Given the description of an element on the screen output the (x, y) to click on. 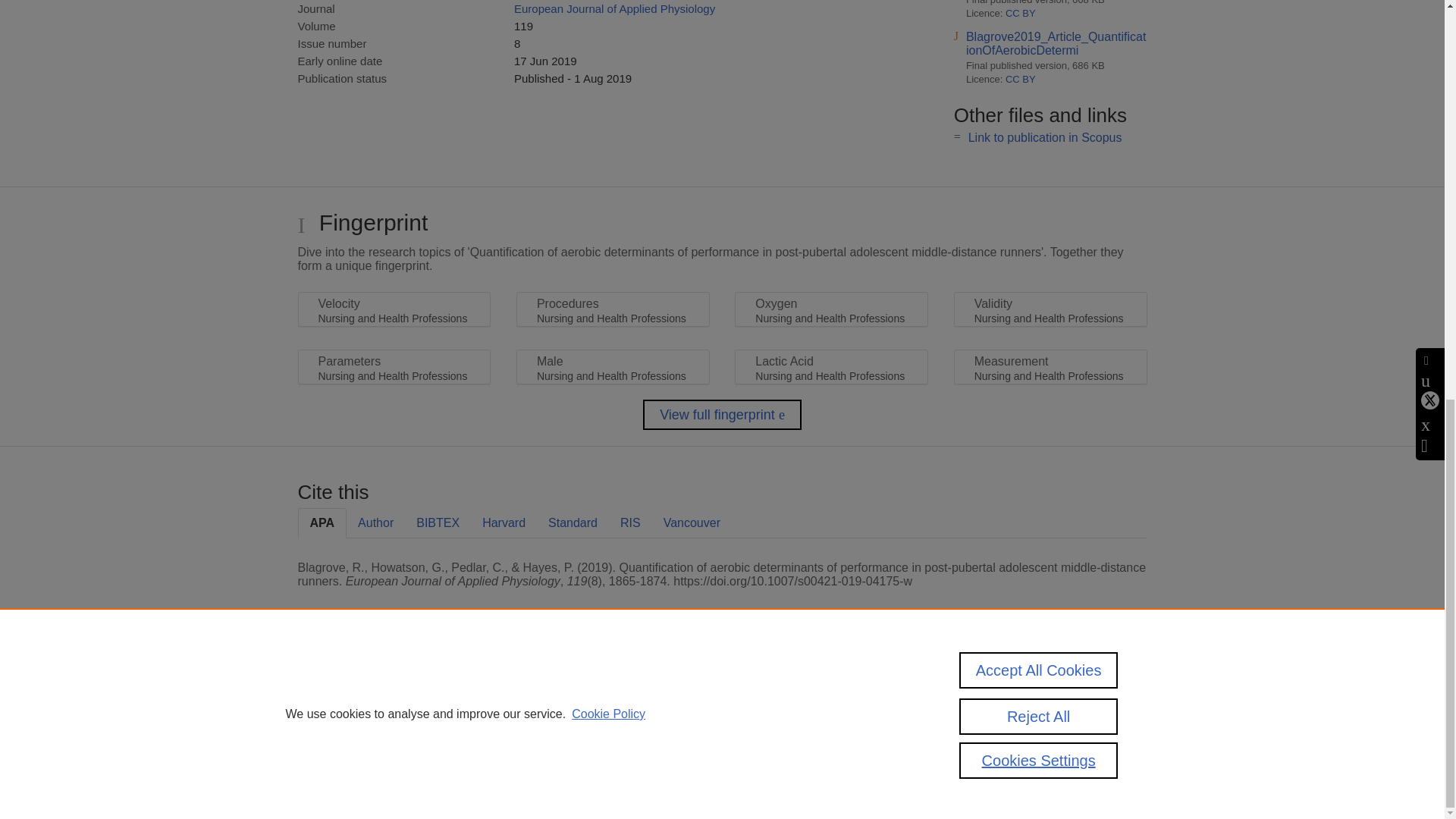
Link to publication in Scopus (1045, 137)
View full fingerprint (722, 414)
European Journal of Applied Physiology (613, 8)
CC BY (1020, 79)
CC BY (1020, 12)
